Given the description of an element on the screen output the (x, y) to click on. 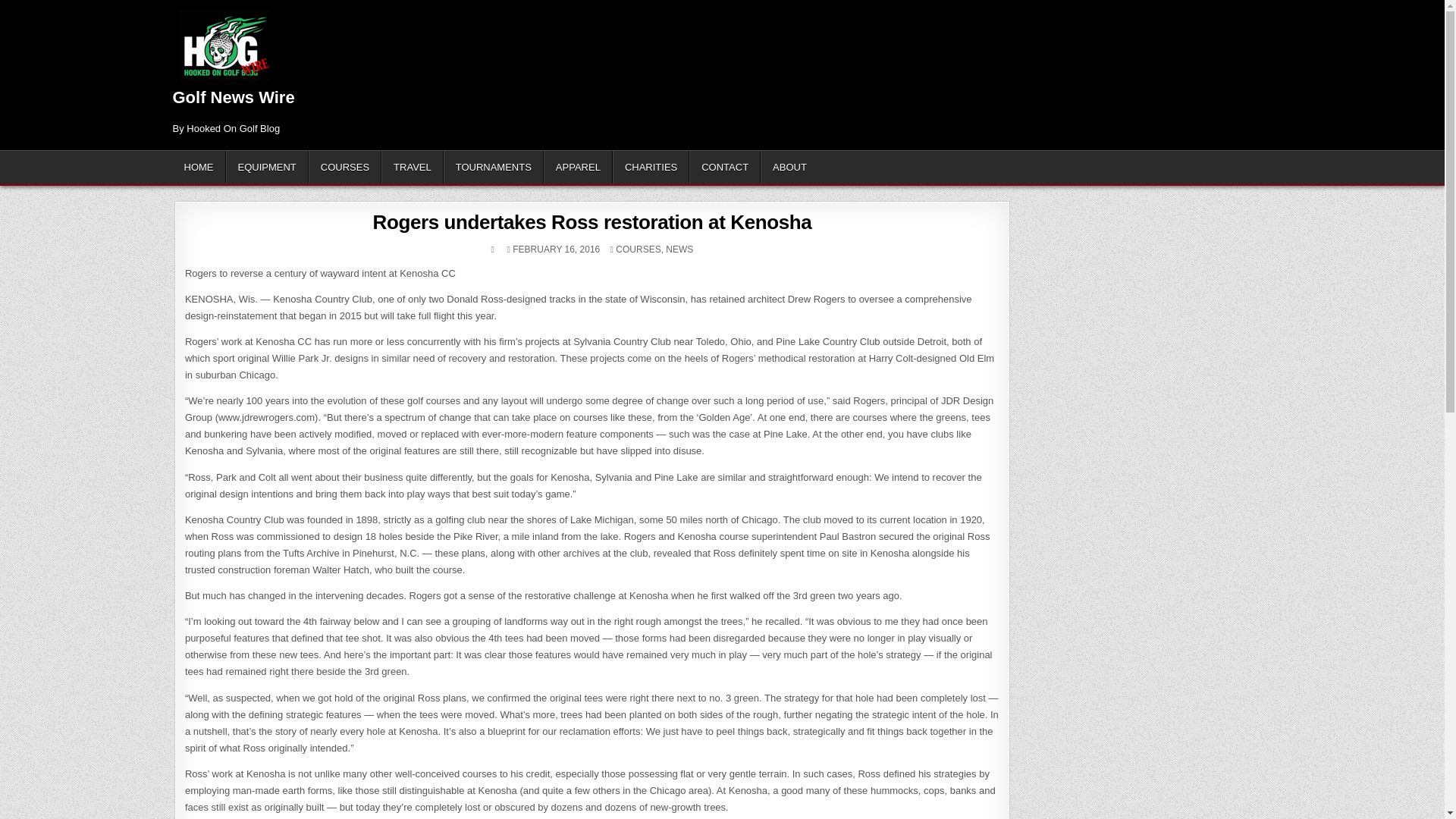
Rogers undertakes Ross restoration at Kenosha (592, 221)
CHARITIES (650, 166)
COURSES (638, 249)
COURSES (344, 166)
NEWS (679, 249)
Golf News Wire (234, 97)
EQUIPMENT (266, 166)
TRAVEL (412, 166)
HOME (199, 166)
APPAREL (577, 166)
TOURNAMENTS (493, 166)
ABOUT (789, 166)
CONTACT (724, 166)
